Given the description of an element on the screen output the (x, y) to click on. 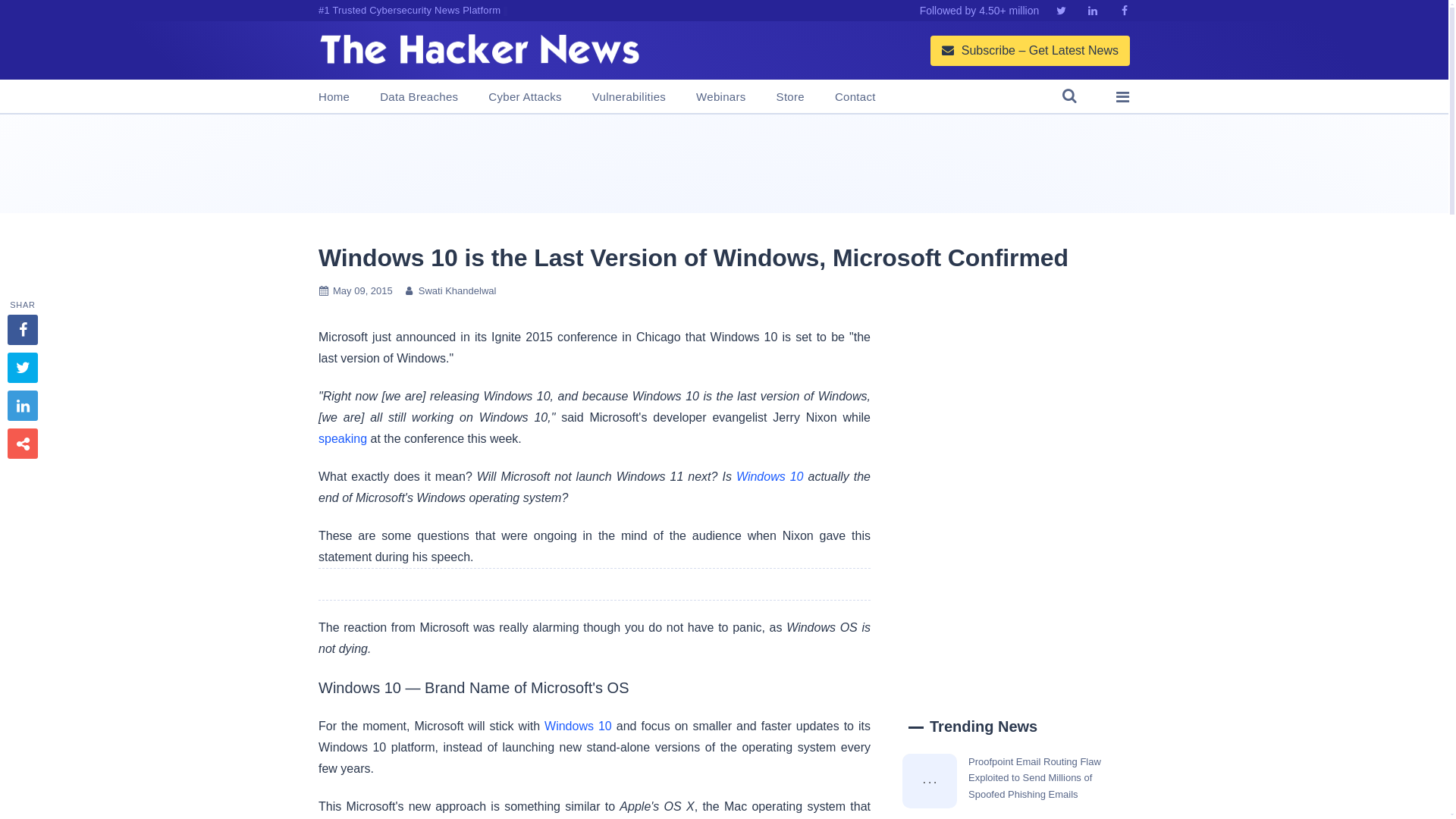
Cyber Attacks (523, 96)
Home (333, 96)
Windows 10 (769, 476)
Webinars (720, 96)
Contact (855, 96)
Windows 10 (577, 725)
Vulnerabilities (628, 96)
Data Breaches (419, 96)
